Given the description of an element on the screen output the (x, y) to click on. 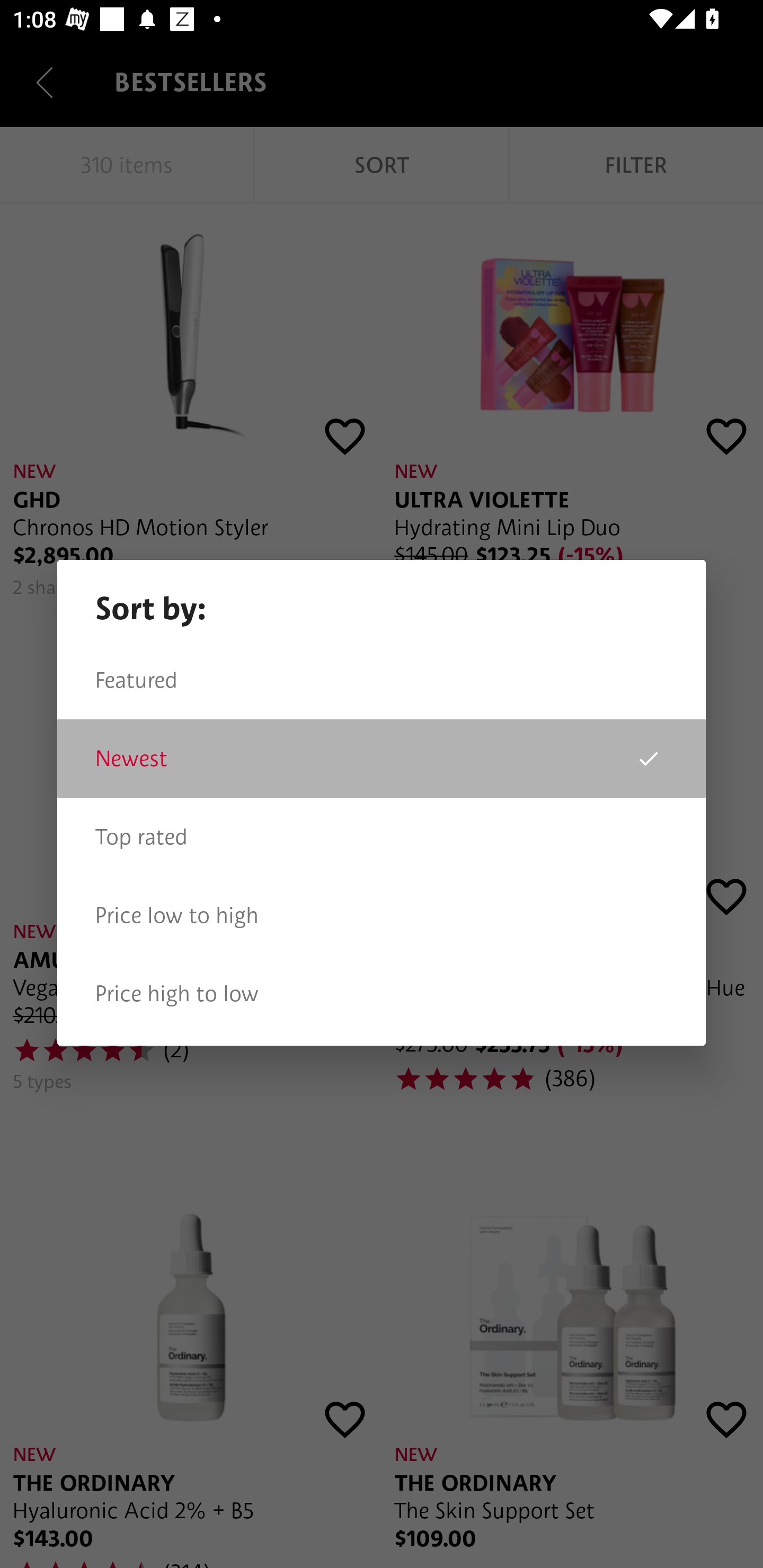
Featured (381, 680)
Newest (381, 758)
Top rated (381, 837)
Price low to high (381, 915)
Price high to low (381, 993)
